Given the description of an element on the screen output the (x, y) to click on. 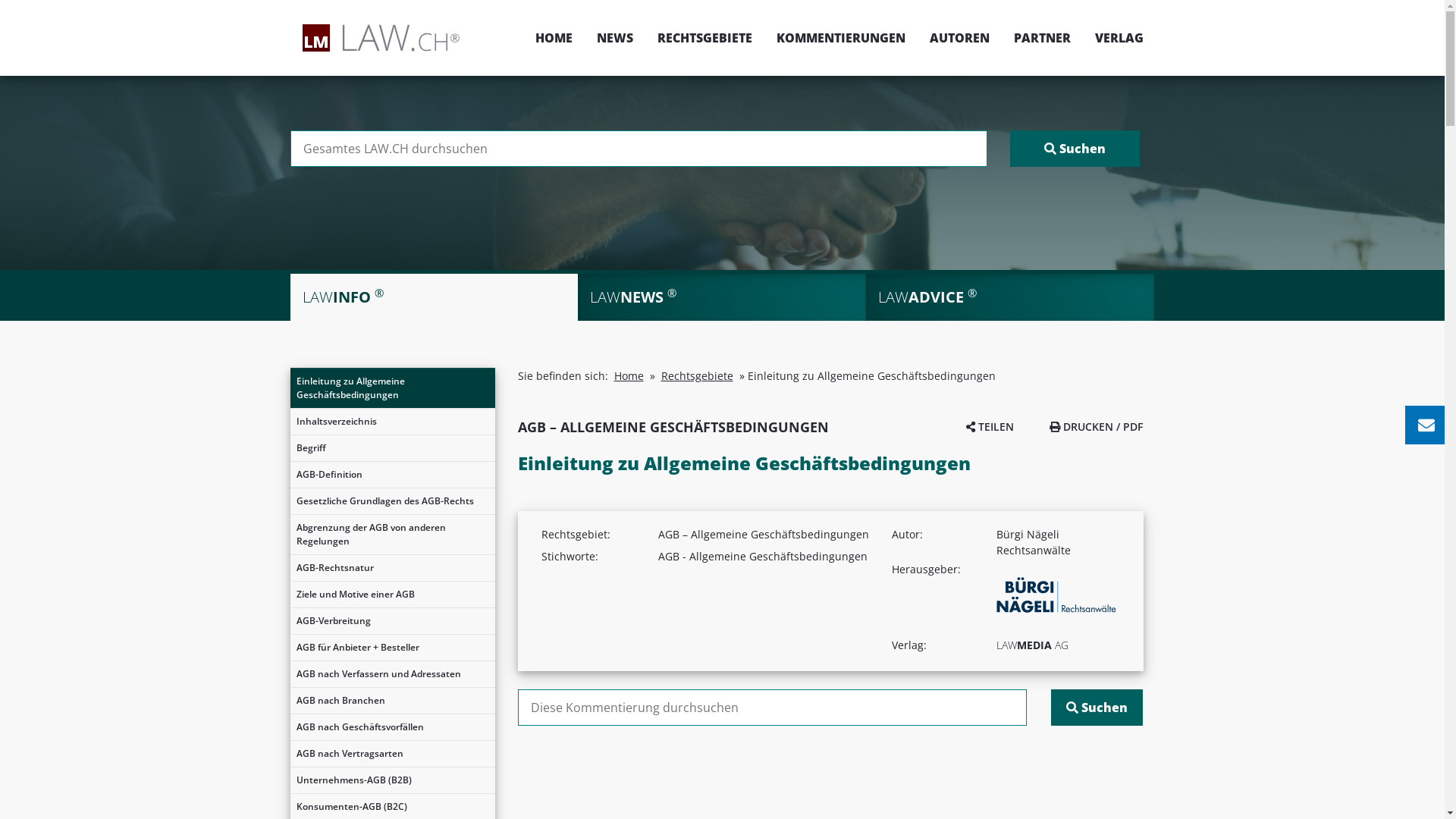
 TEILEN Element type: text (989, 426)
Suchen nach: Element type: hover (637, 148)
 DRUCKEN / PDF Element type: text (1095, 426)
AGB-Definition Element type: text (391, 474)
PARTNER Element type: text (1041, 37)
Rechtsgebiete Element type: text (697, 375)
RECHTSGEBIETE Element type: text (703, 37)
KOMMENTIERUNGEN Element type: text (840, 37)
Gesetzliche Grundlagen des AGB-Rechts Element type: text (391, 501)
VERLAG Element type: text (1112, 37)
AGB-Rechtsnatur Element type: text (391, 567)
AUTOREN Element type: text (959, 37)
AGB nach Verfassern und Adressaten Element type: text (391, 674)
Inhaltsverzeichnis Element type: text (391, 421)
AGB nach Branchen Element type: text (391, 700)
HOME Element type: text (553, 37)
Unternehmens-AGB (B2B) Element type: text (391, 780)
AGB-Verbreitung Element type: text (391, 620)
AGB nach Vertragsarten Element type: text (391, 753)
Ziele und Motive einer AGB Element type: text (391, 594)
Home Element type: text (628, 375)
Abgrenzung der AGB von anderen Regelungen Element type: text (391, 534)
NEWS Element type: text (613, 37)
Suchen nach: Element type: hover (771, 707)
Begriff Element type: text (391, 448)
